Given the description of an element on the screen output the (x, y) to click on. 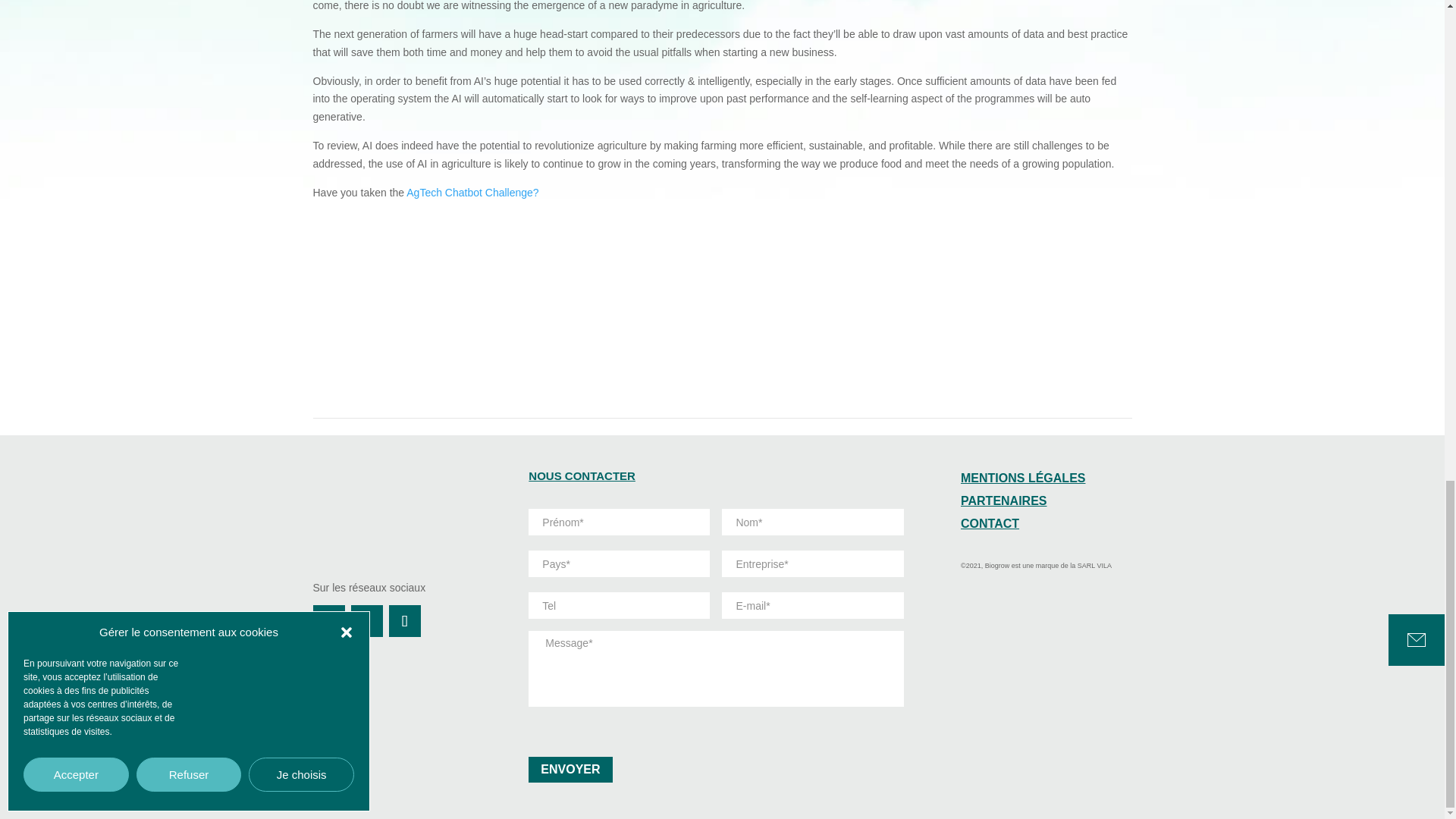
logo-biogrow (398, 511)
Suivez sur Youtube (404, 621)
ENVOYER (569, 769)
Suivez sur Facebook (328, 621)
Suivez sur LinkedIn (365, 621)
